Given the description of an element on the screen output the (x, y) to click on. 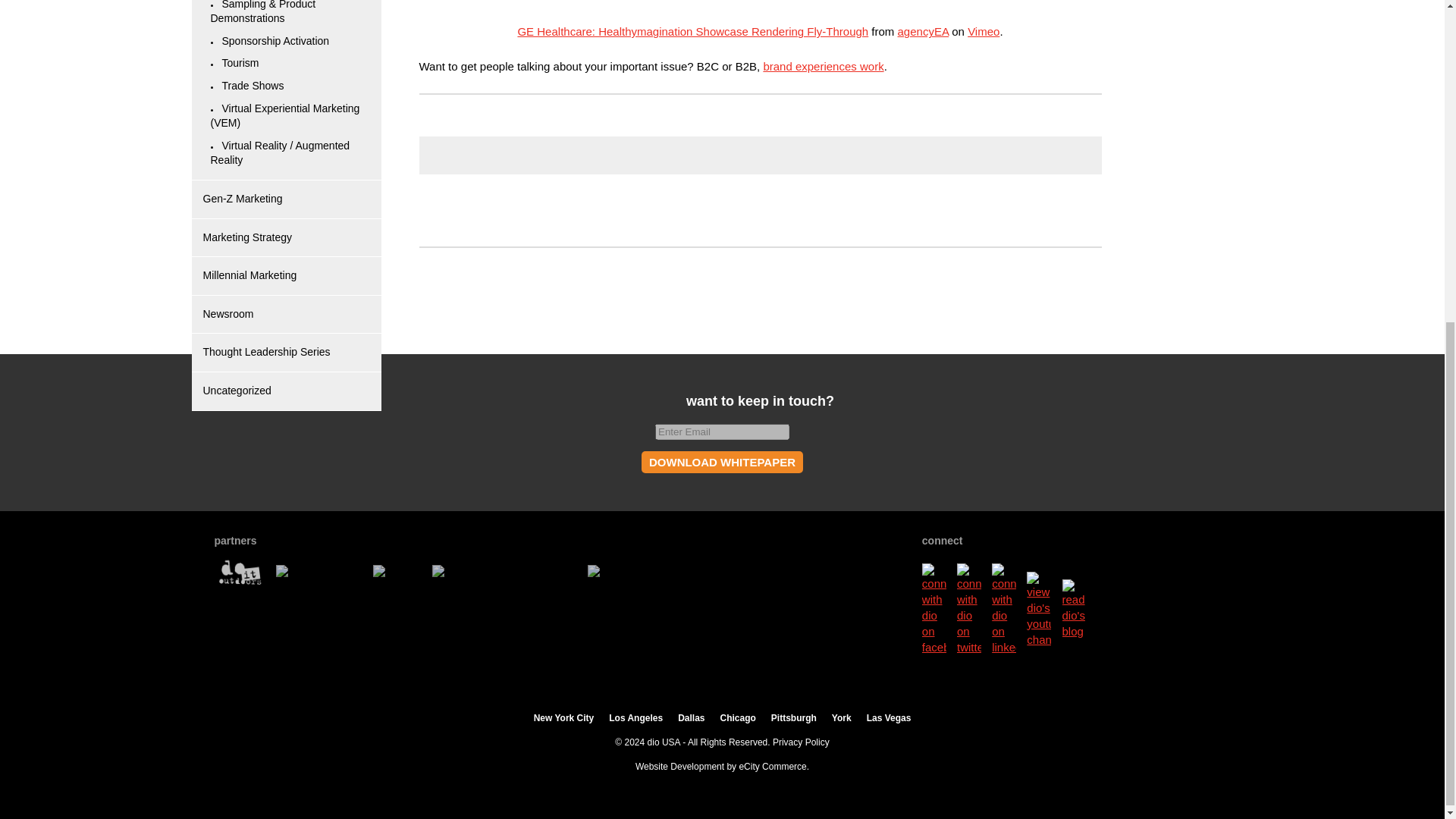
Download Whitepaper (722, 462)
Sponsorship Activation (275, 40)
Trade Shows (252, 85)
brand experiences work (822, 65)
agencyEA (923, 31)
Vimeo (983, 31)
Tourism (240, 62)
Marketing Strategy (247, 236)
Gen-Z Marketing (242, 198)
